Given the description of an element on the screen output the (x, y) to click on. 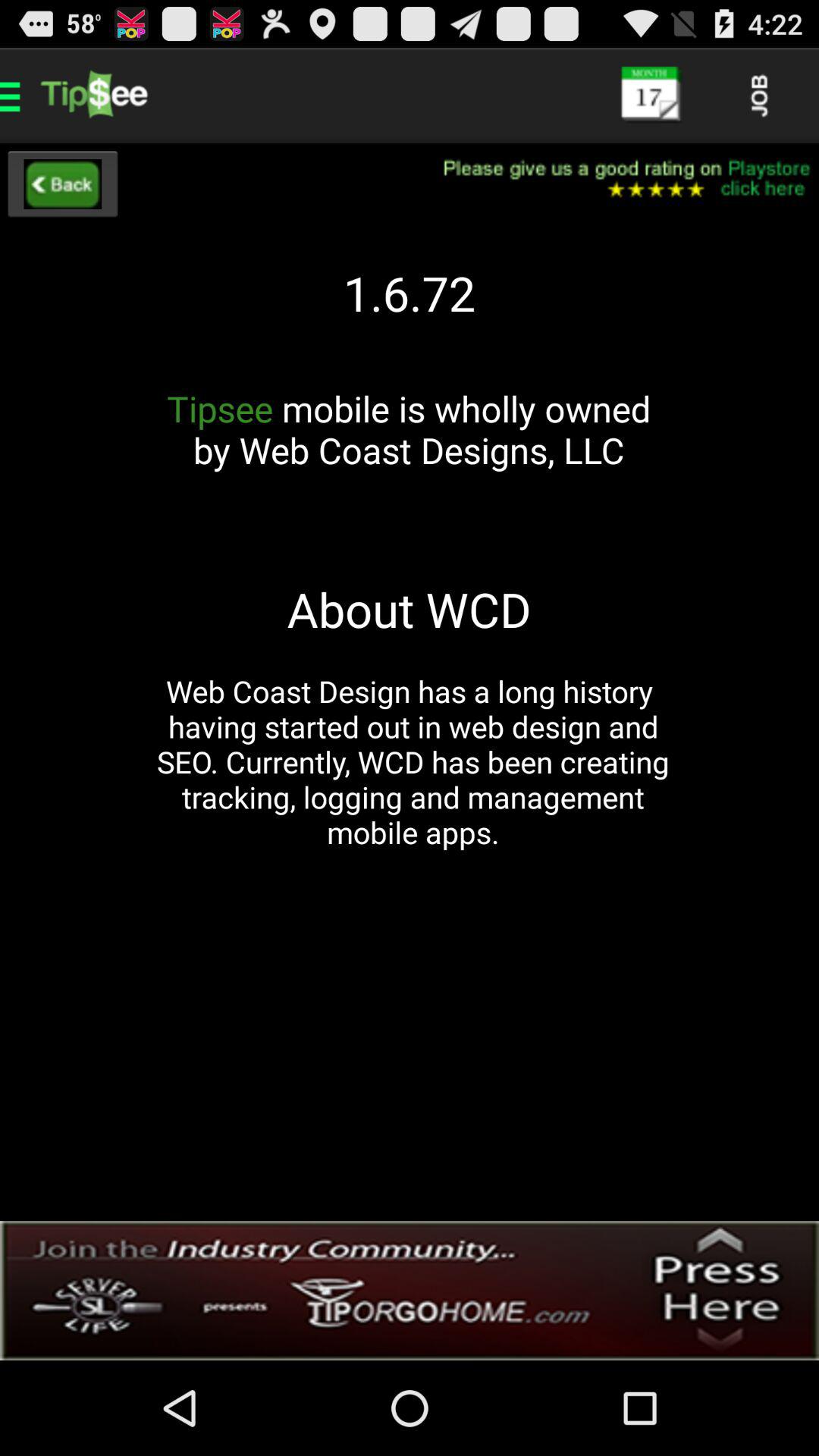
flip to tipsee mobile is item (409, 450)
